Given the description of an element on the screen output the (x, y) to click on. 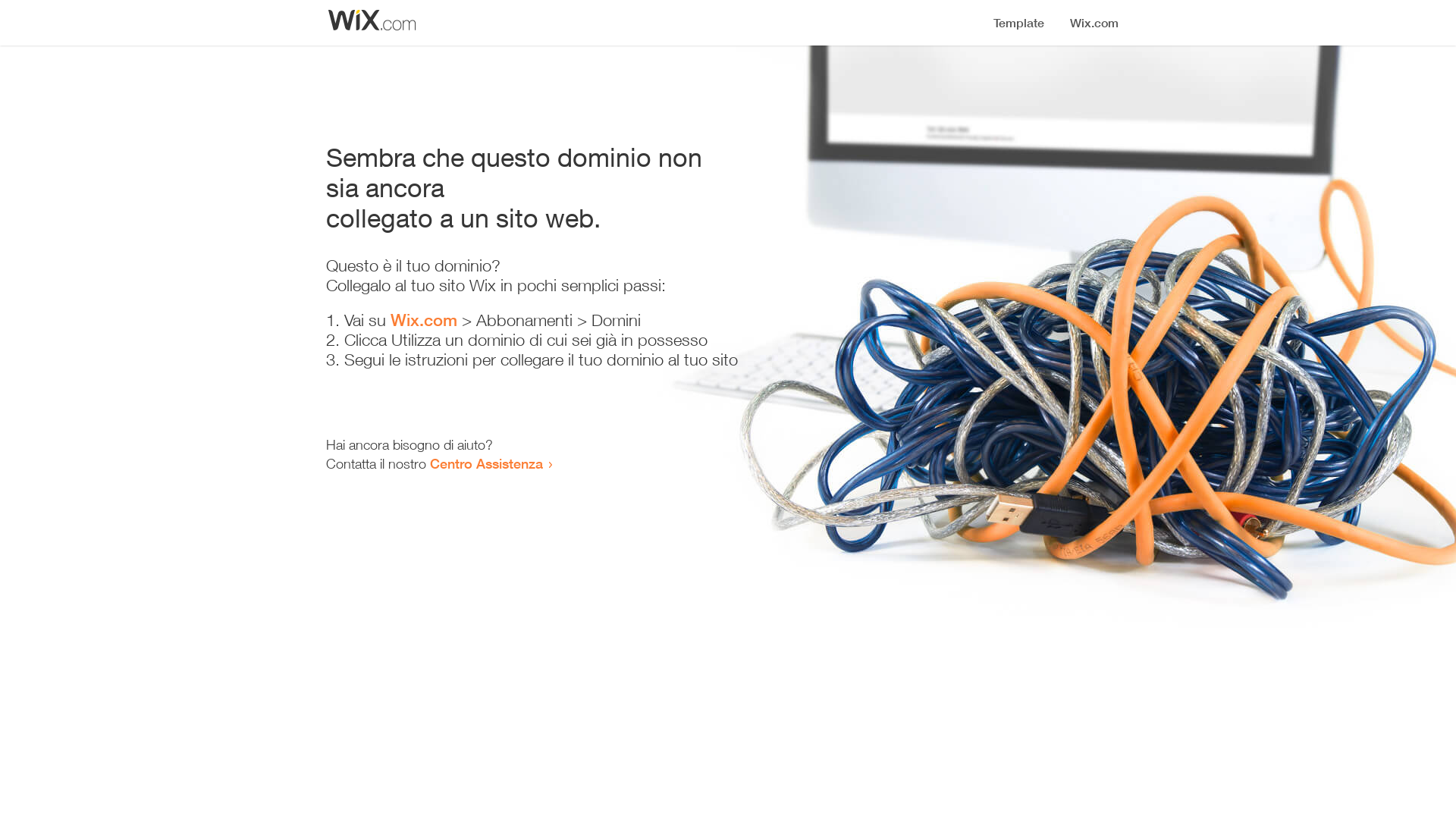
Centro Assistenza Element type: text (485, 463)
Wix.com Element type: text (423, 319)
